Given the description of an element on the screen output the (x, y) to click on. 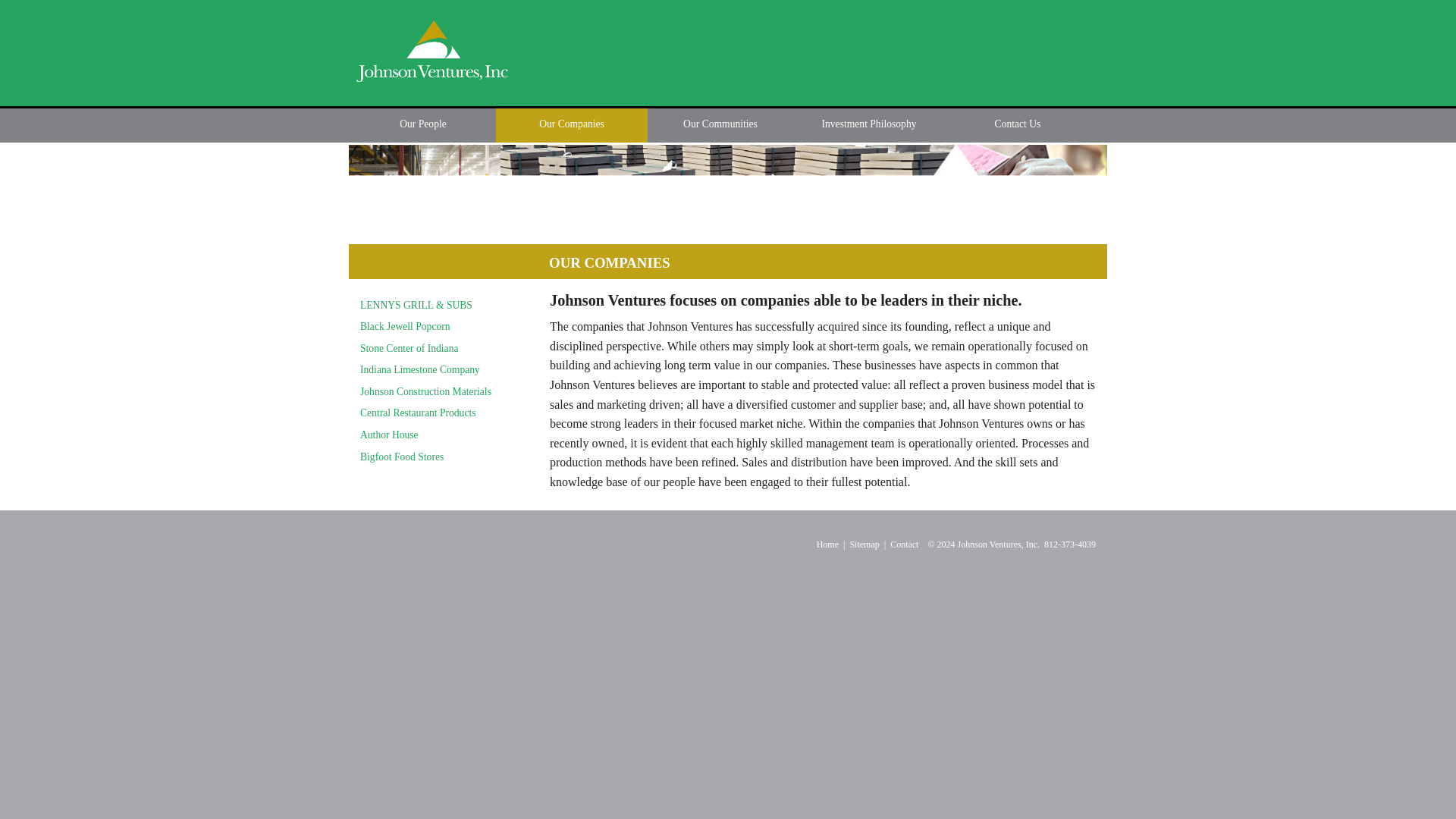
Home (827, 543)
Central Restaurant Products (417, 412)
Contact Us (1017, 125)
Investment Philosophy (868, 125)
Our Communities (720, 125)
Black Jewell Popcorn (404, 326)
Bigfoot Food Stores (401, 456)
Stone Center of Indiana (408, 348)
Our Companies (571, 125)
Contact (903, 543)
